Given the description of an element on the screen output the (x, y) to click on. 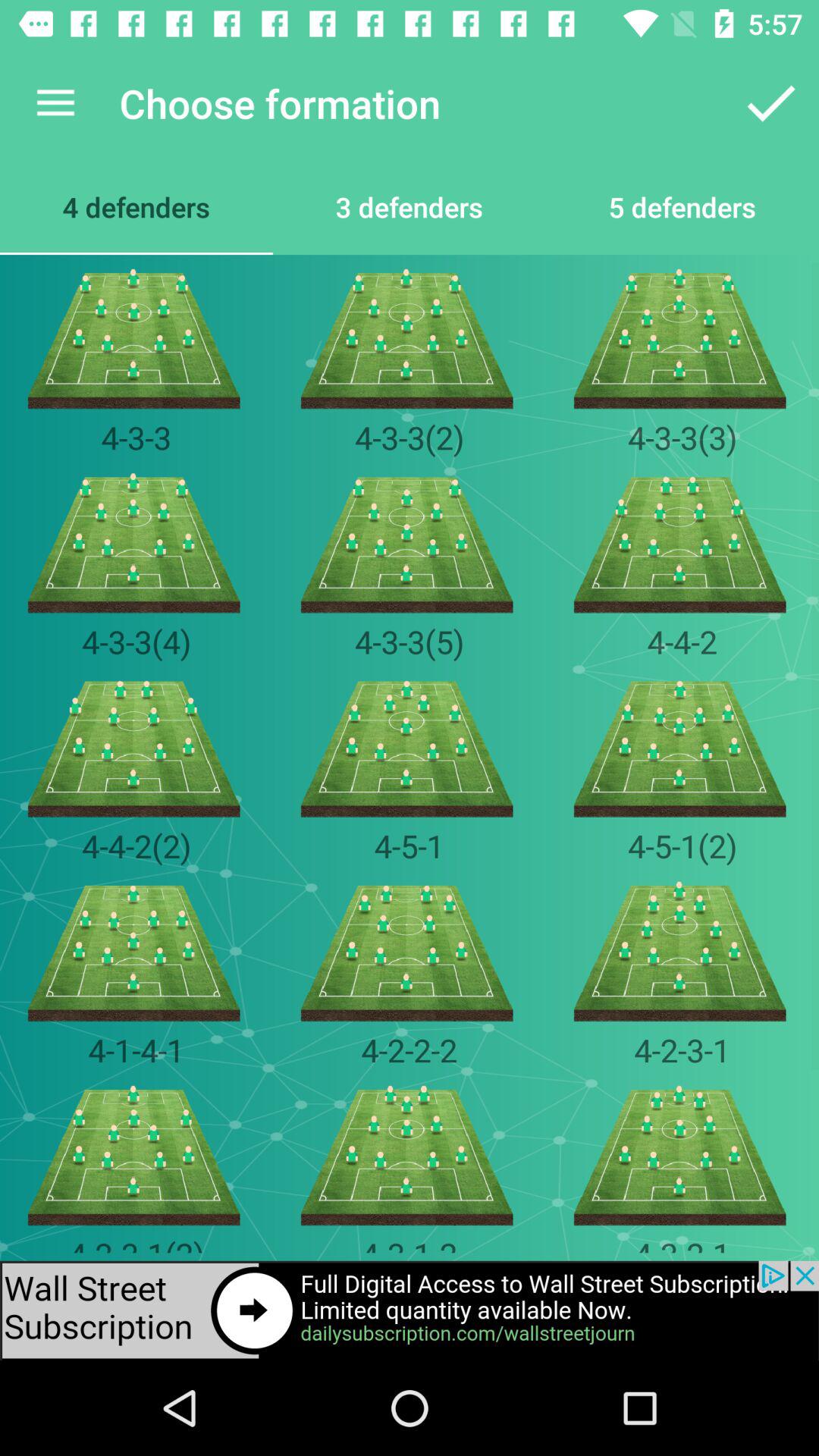
advertisement (409, 1310)
